Given the description of an element on the screen output the (x, y) to click on. 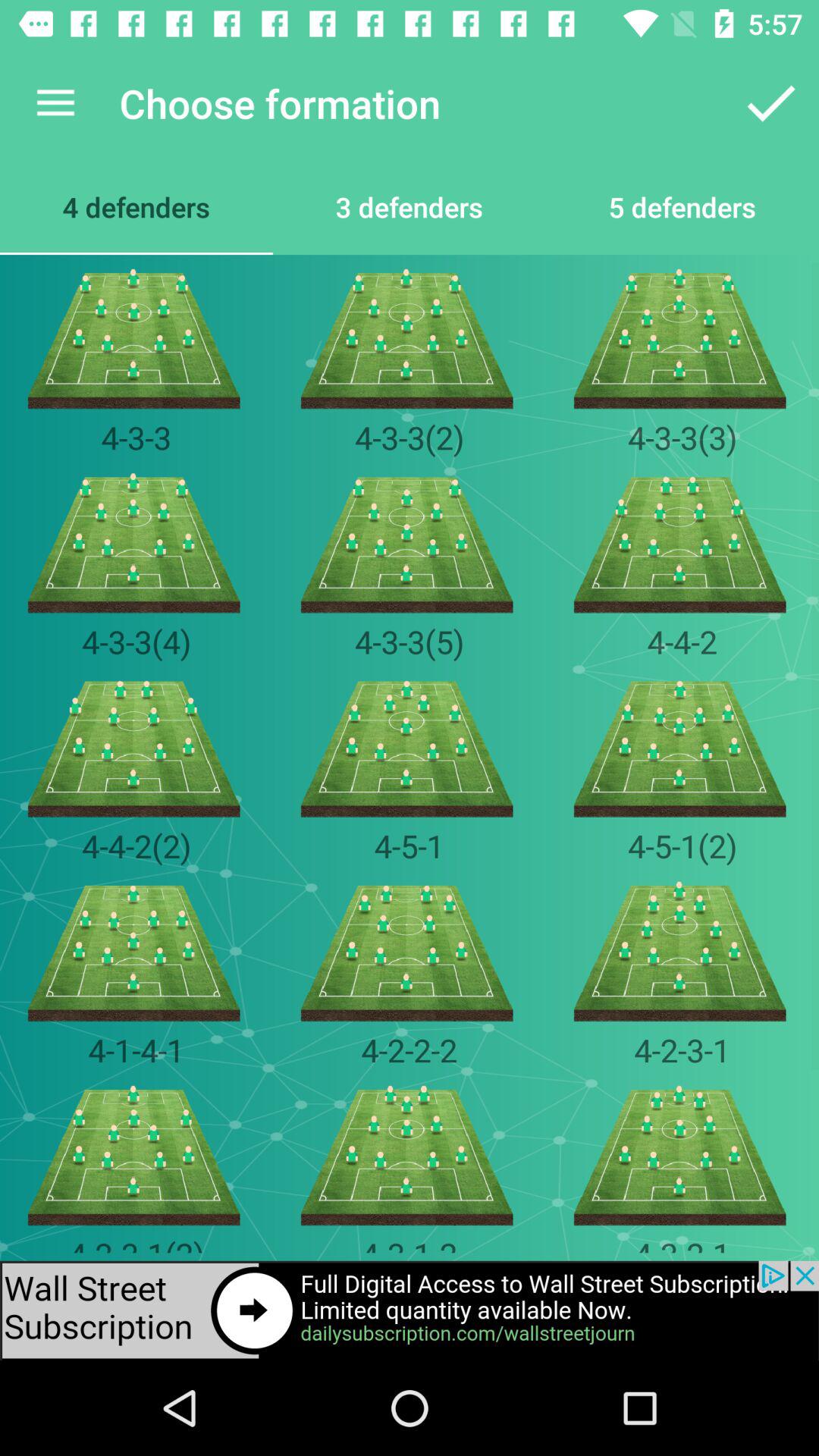
advertisement (409, 1310)
